Given the description of an element on the screen output the (x, y) to click on. 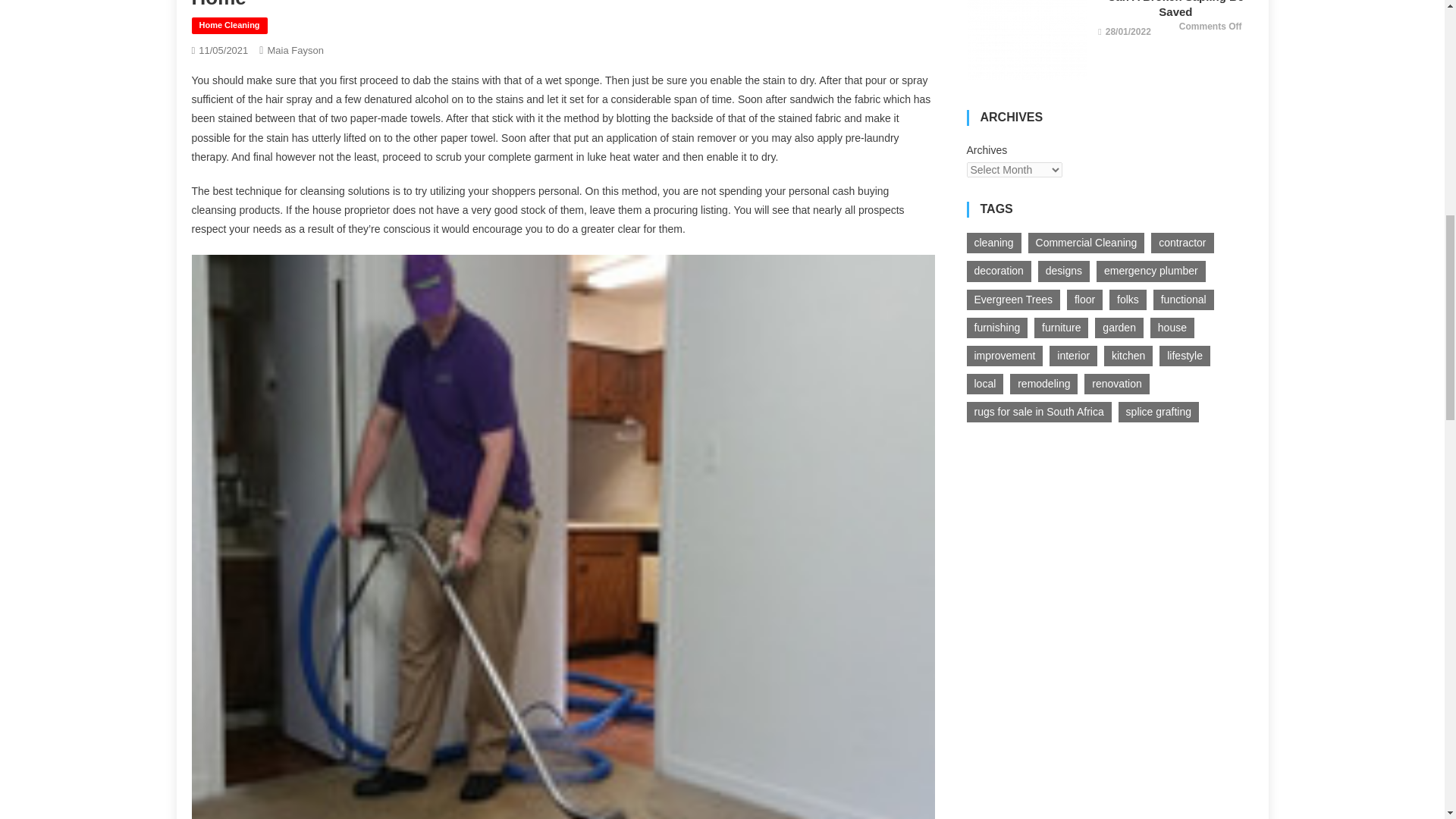
Can a Broken Sapling Be Saved (1026, 39)
Home Cleaning (228, 25)
Maia Fayson (294, 50)
